Given the description of an element on the screen output the (x, y) to click on. 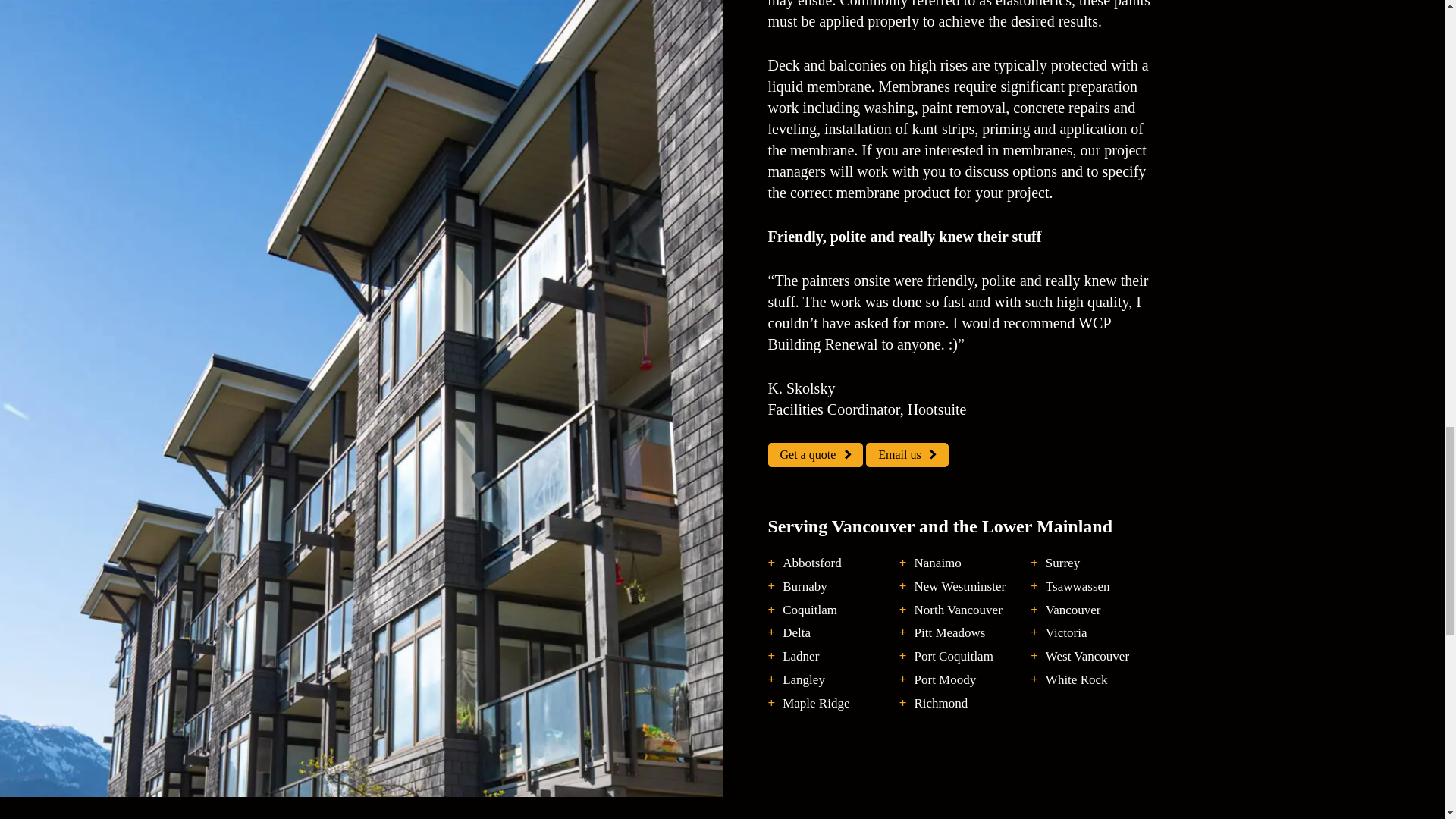
Langley (804, 680)
Email us (906, 454)
Abbotsford (812, 563)
Delta (796, 633)
Get a quote (815, 454)
Coquitlam (810, 610)
Burnaby (805, 587)
Ladner (800, 656)
